Given the description of an element on the screen output the (x, y) to click on. 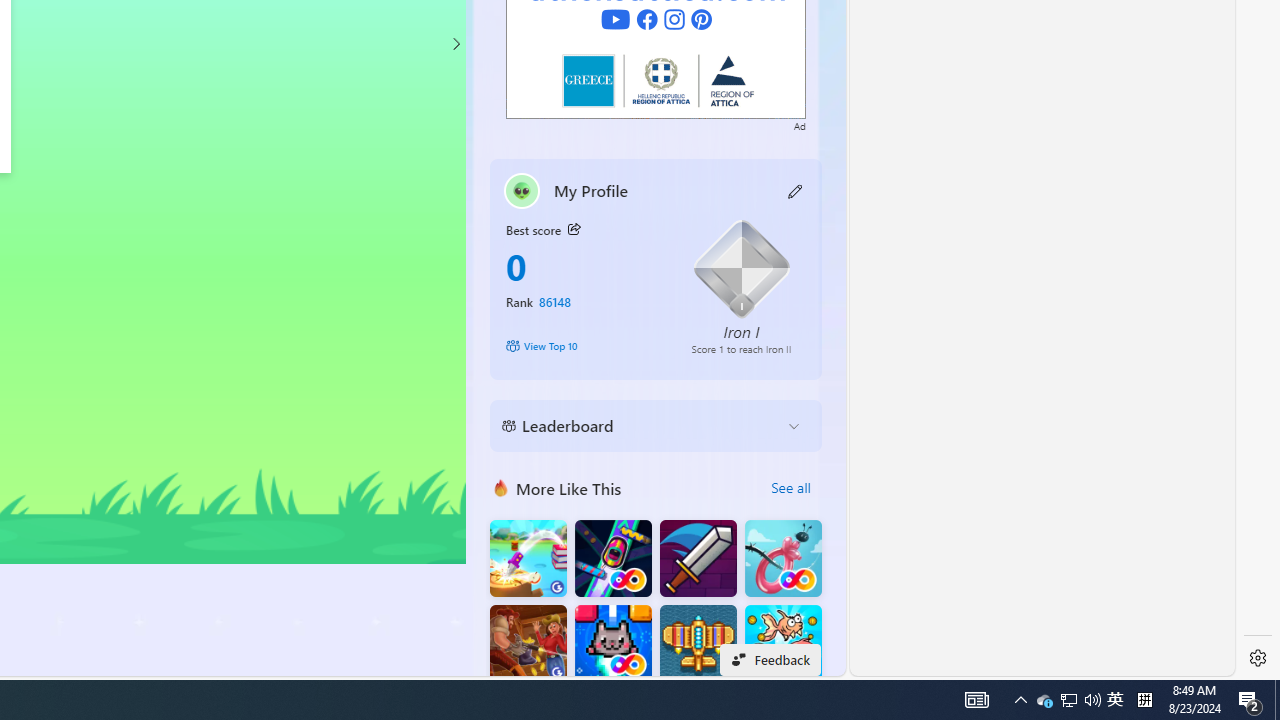
See all (790, 487)
Class: button (574, 229)
Balloon FRVR (783, 558)
Bumper Car FRVR (612, 558)
Knife Flip (528, 558)
Kitten Force FRVR (612, 643)
Leaderboard (639, 425)
Atlantic Sky Hunter (698, 643)
View Top 10 (584, 345)
Class: control (455, 43)
Fish Merge FRVR (783, 643)
More Like This (501, 487)
Class: button edit-icon (795, 190)
